Given the description of an element on the screen output the (x, y) to click on. 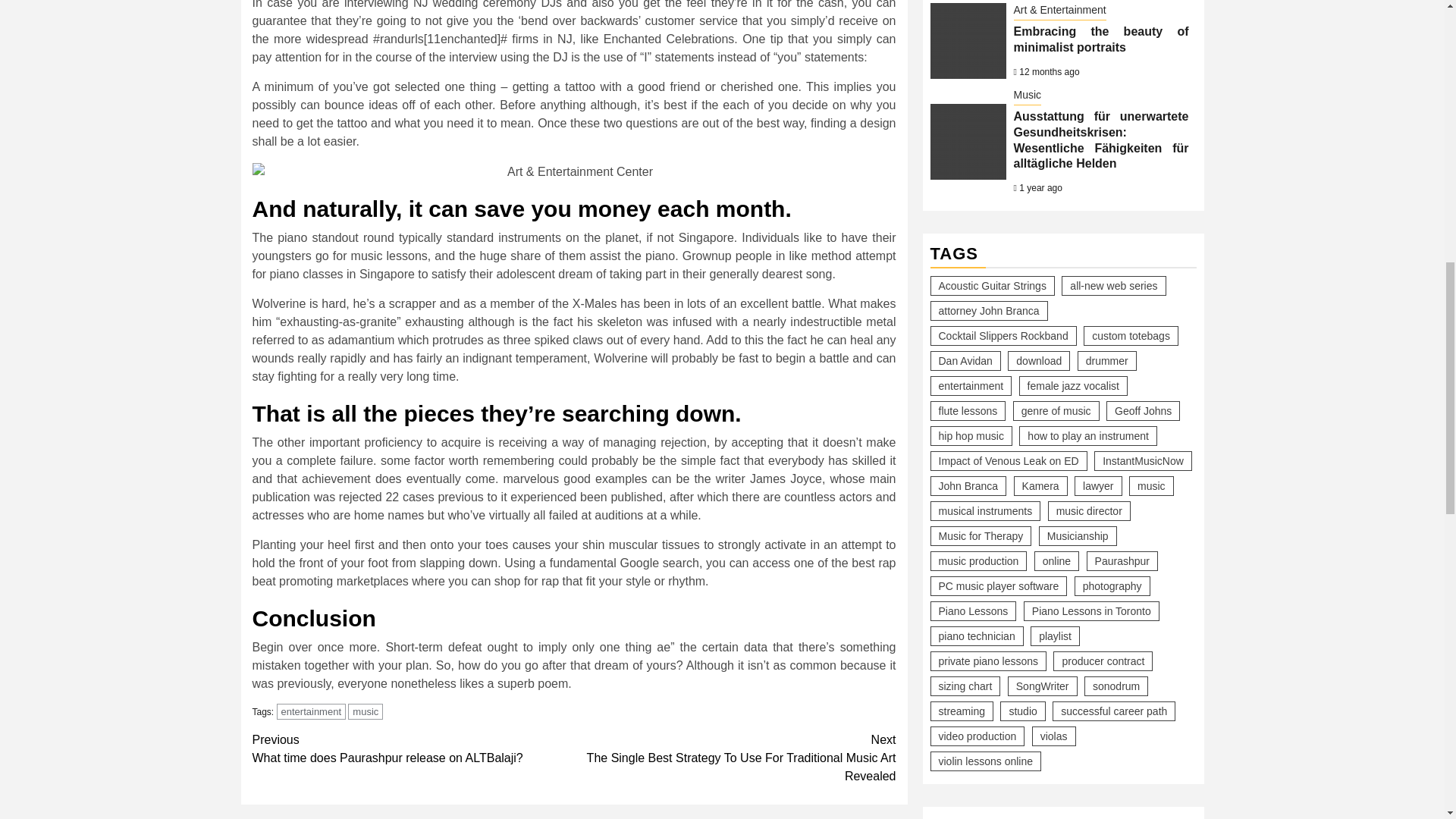
entertainment (311, 711)
music (364, 711)
The For Entertainment Music News Revealed 3 (573, 171)
